Given the description of an element on the screen output the (x, y) to click on. 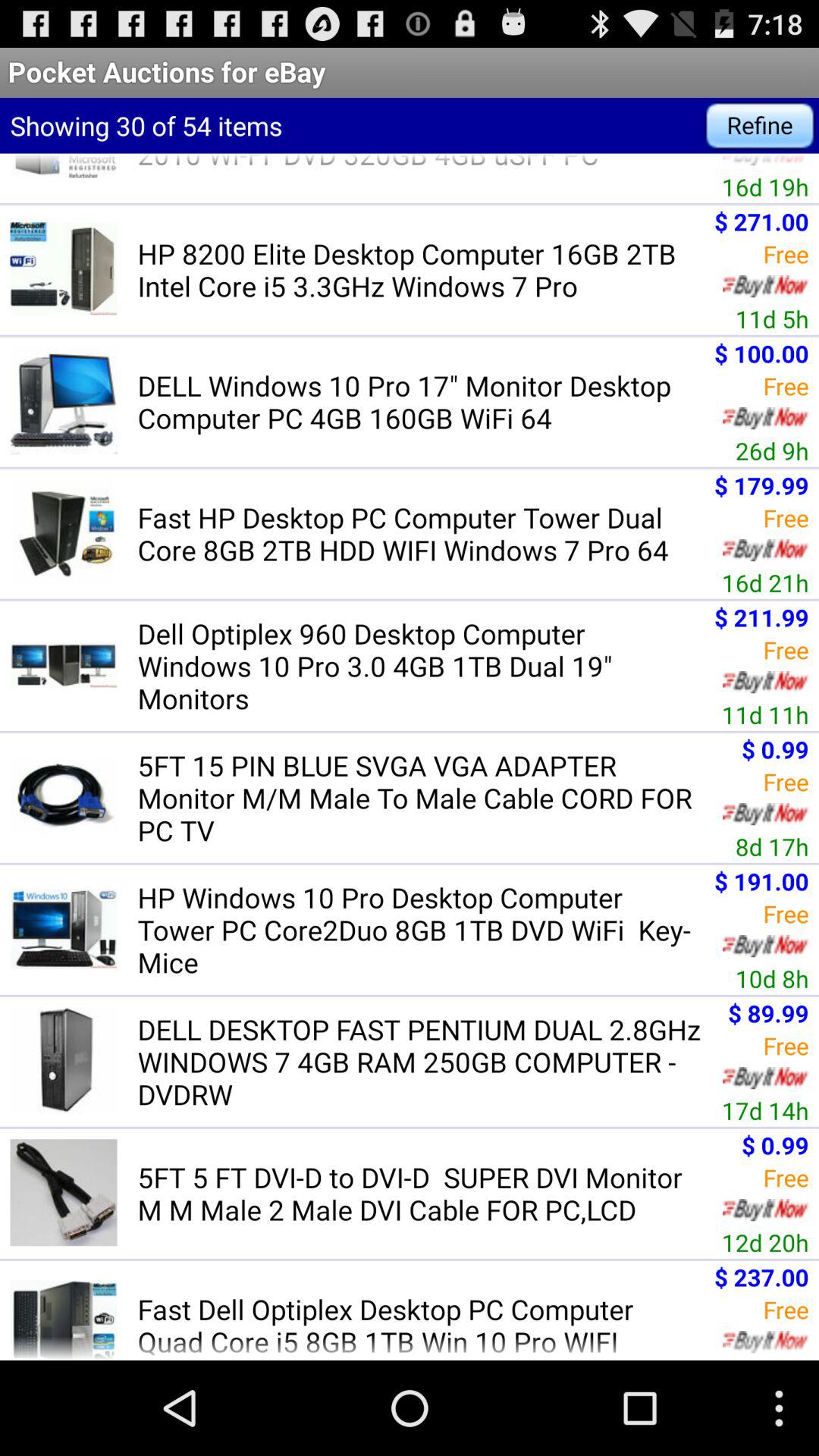
turn off the app above $ 100.00 icon (771, 318)
